Given the description of an element on the screen output the (x, y) to click on. 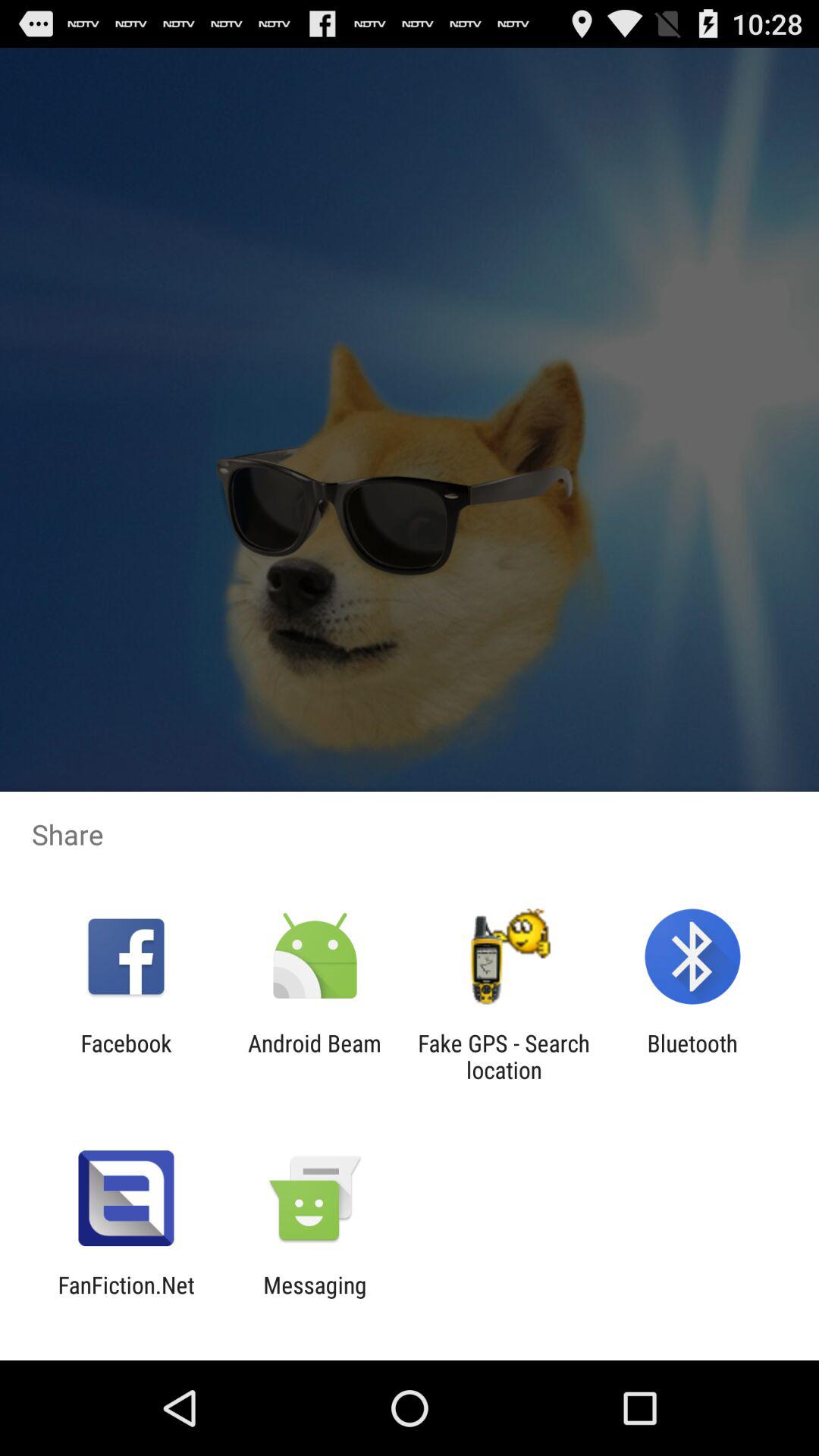
open android beam icon (314, 1056)
